Given the description of an element on the screen output the (x, y) to click on. 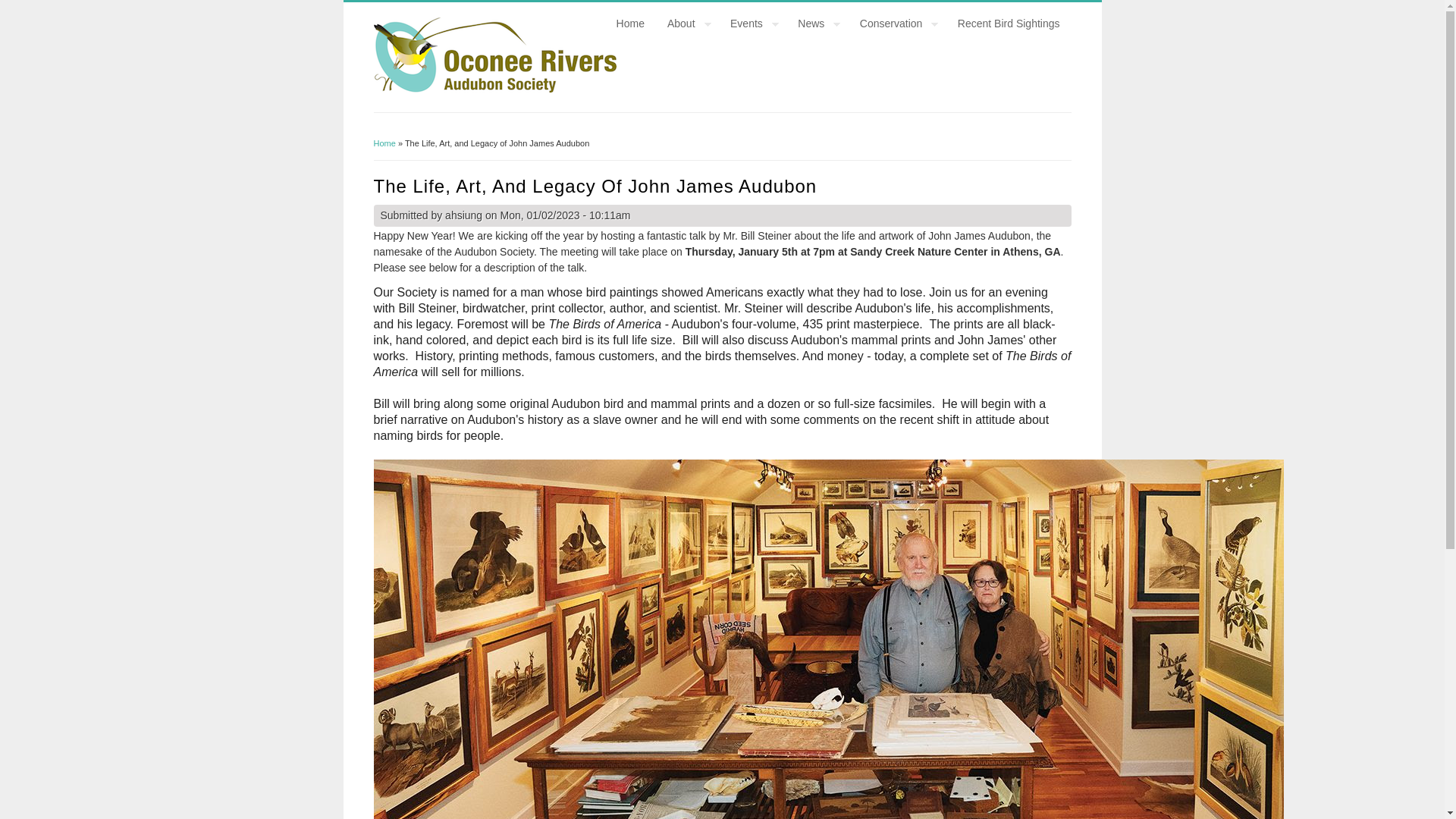
Home (383, 143)
Home (630, 23)
ORAS News (817, 23)
Home (493, 88)
Recent Bird Sightings (1008, 23)
